Given the description of an element on the screen output the (x, y) to click on. 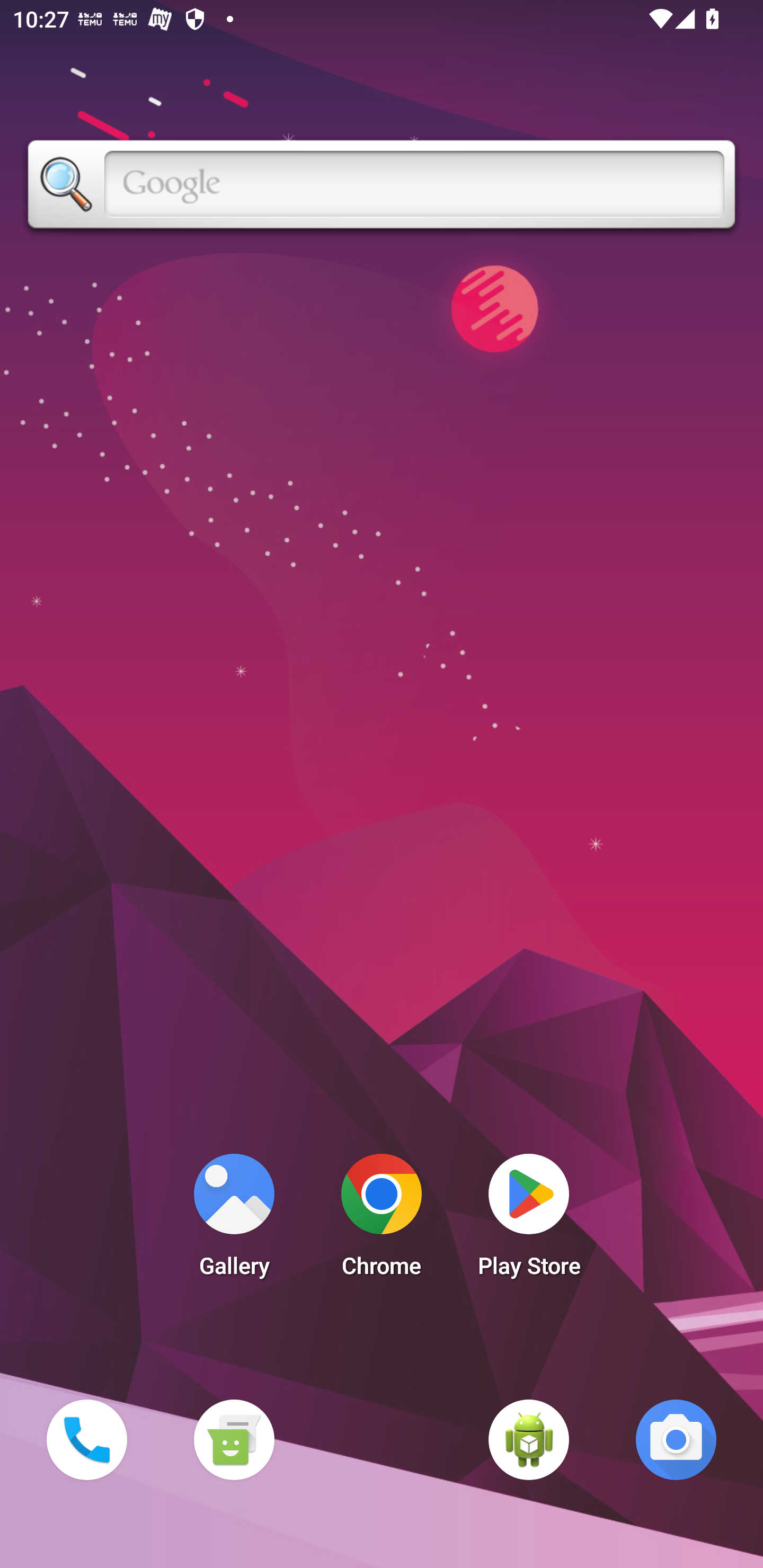
Gallery (233, 1220)
Chrome (381, 1220)
Play Store (528, 1220)
Phone (86, 1439)
Messaging (233, 1439)
WebView Browser Tester (528, 1439)
Camera (676, 1439)
